Given the description of an element on the screen output the (x, y) to click on. 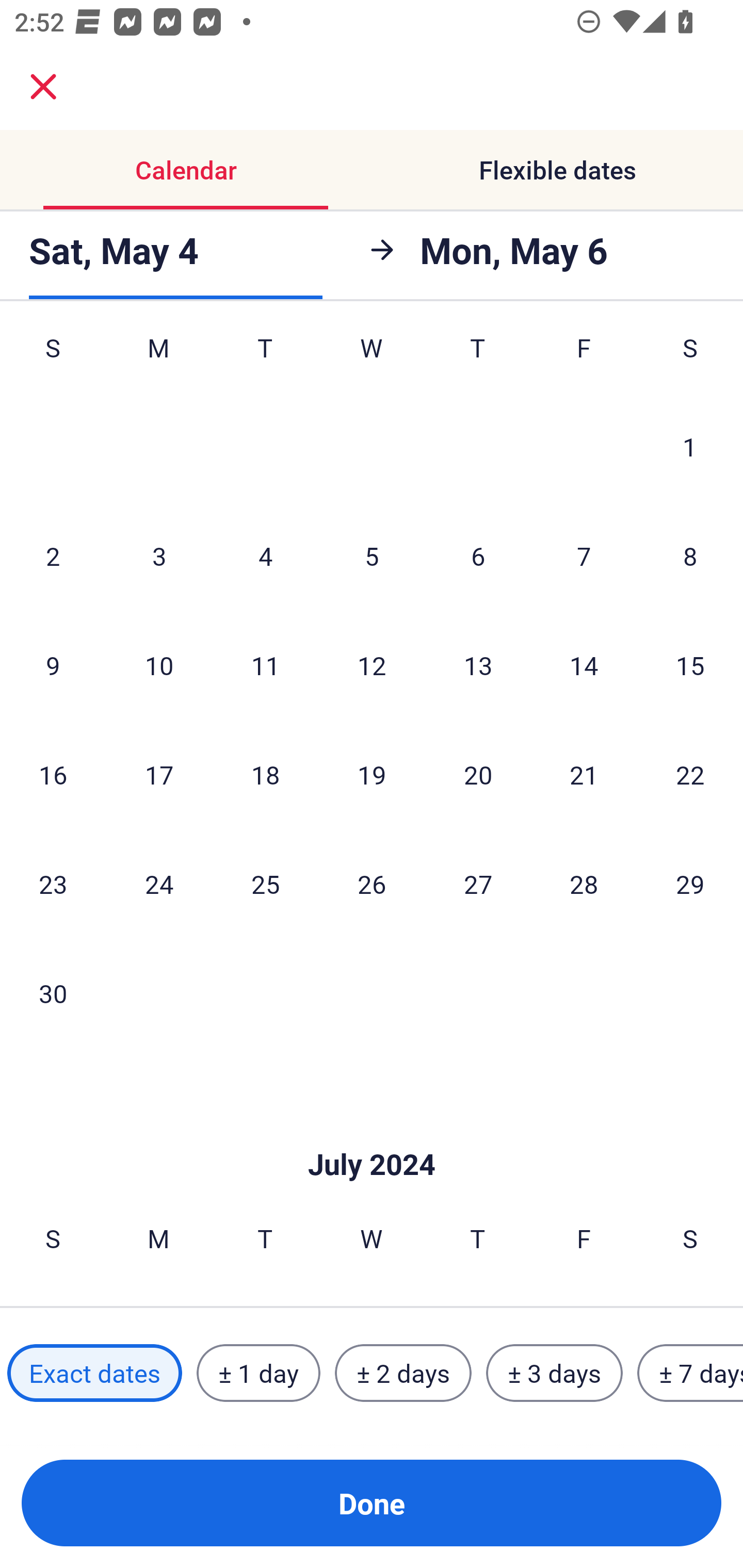
close. (43, 86)
Flexible dates (557, 170)
1 Saturday, June 1, 2024 (689, 445)
2 Sunday, June 2, 2024 (53, 555)
3 Monday, June 3, 2024 (159, 555)
4 Tuesday, June 4, 2024 (265, 555)
5 Wednesday, June 5, 2024 (371, 555)
6 Thursday, June 6, 2024 (477, 555)
7 Friday, June 7, 2024 (584, 555)
8 Saturday, June 8, 2024 (690, 555)
9 Sunday, June 9, 2024 (53, 664)
10 Monday, June 10, 2024 (159, 664)
11 Tuesday, June 11, 2024 (265, 664)
12 Wednesday, June 12, 2024 (371, 664)
13 Thursday, June 13, 2024 (477, 664)
14 Friday, June 14, 2024 (584, 664)
15 Saturday, June 15, 2024 (690, 664)
16 Sunday, June 16, 2024 (53, 774)
17 Monday, June 17, 2024 (159, 774)
18 Tuesday, June 18, 2024 (265, 774)
19 Wednesday, June 19, 2024 (371, 774)
20 Thursday, June 20, 2024 (477, 774)
21 Friday, June 21, 2024 (584, 774)
22 Saturday, June 22, 2024 (690, 774)
23 Sunday, June 23, 2024 (53, 883)
24 Monday, June 24, 2024 (159, 883)
25 Tuesday, June 25, 2024 (265, 883)
26 Wednesday, June 26, 2024 (371, 883)
27 Thursday, June 27, 2024 (477, 883)
28 Friday, June 28, 2024 (584, 883)
29 Saturday, June 29, 2024 (690, 883)
30 Sunday, June 30, 2024 (53, 992)
Skip to Done (371, 1133)
Exact dates (94, 1372)
± 1 day (258, 1372)
± 2 days (403, 1372)
± 3 days (553, 1372)
± 7 days (690, 1372)
Done (371, 1502)
